Given the description of an element on the screen output the (x, y) to click on. 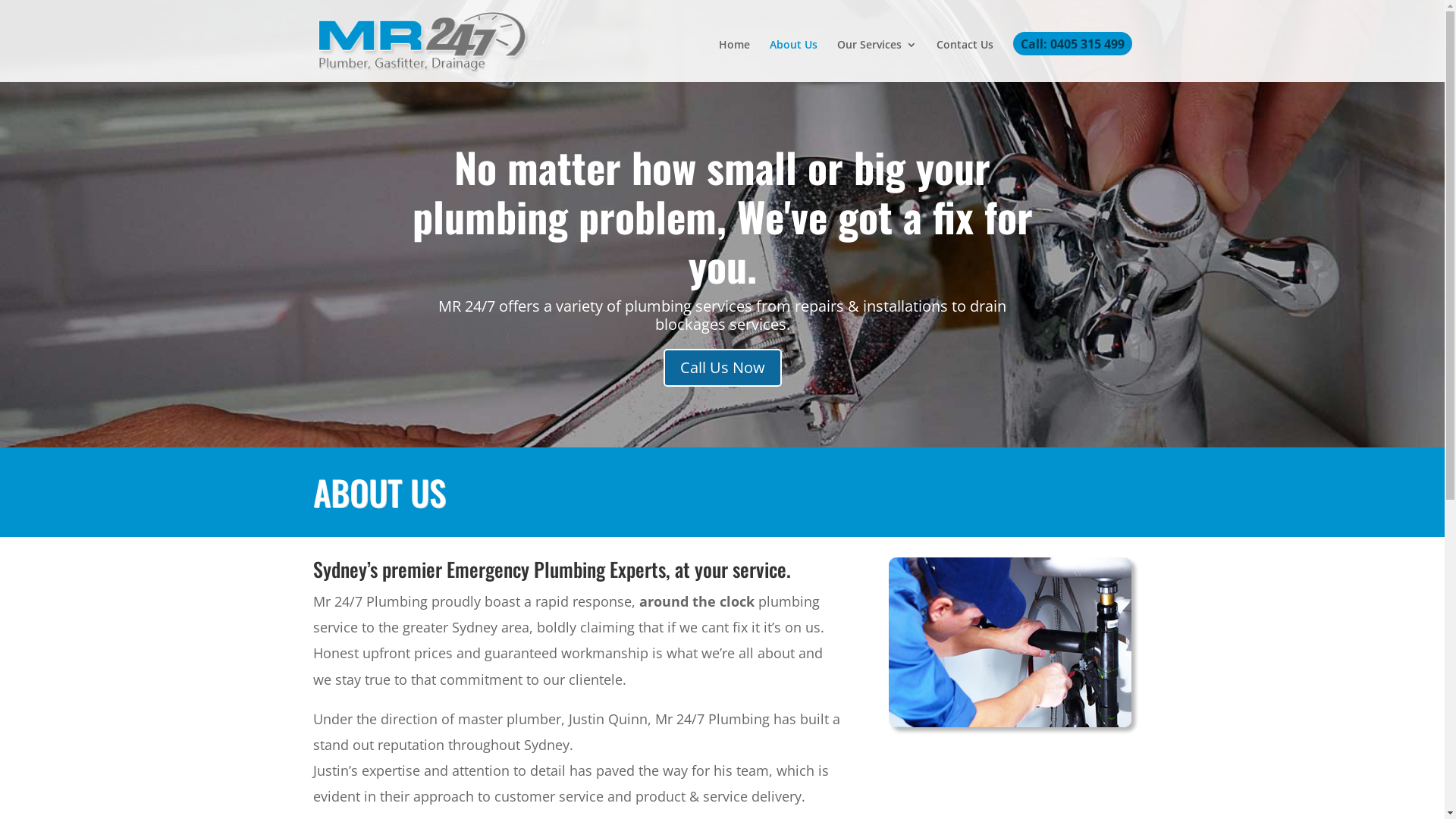
About Us Element type: text (792, 60)
Call: 0405 315 499 Element type: text (1072, 59)
Call Us Now Element type: text (721, 367)
Our Services Element type: text (876, 60)
Contact Us Element type: text (963, 60)
Home Element type: text (733, 60)
